Given the description of an element on the screen output the (x, y) to click on. 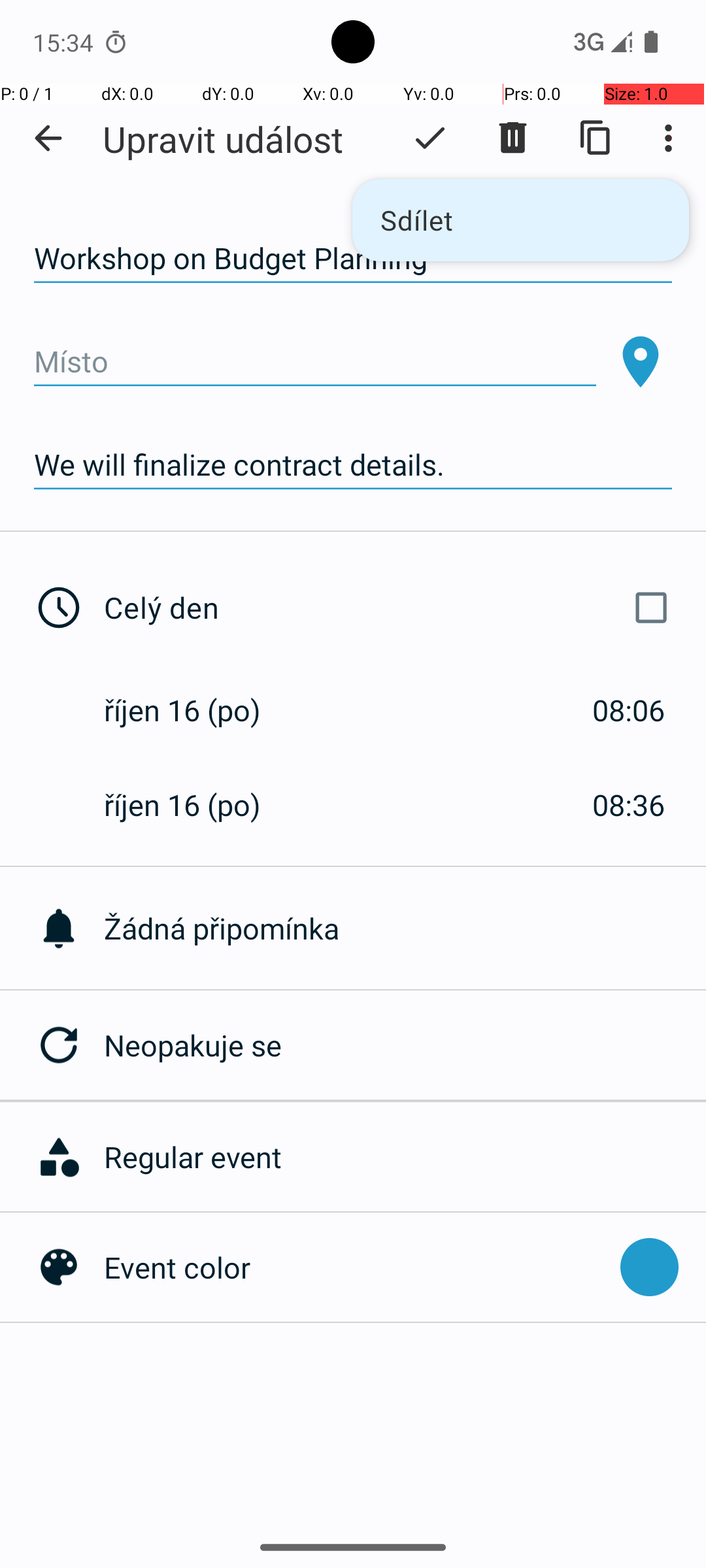
Sdílet Element type: android.widget.TextView (520, 219)
